Given the description of an element on the screen output the (x, y) to click on. 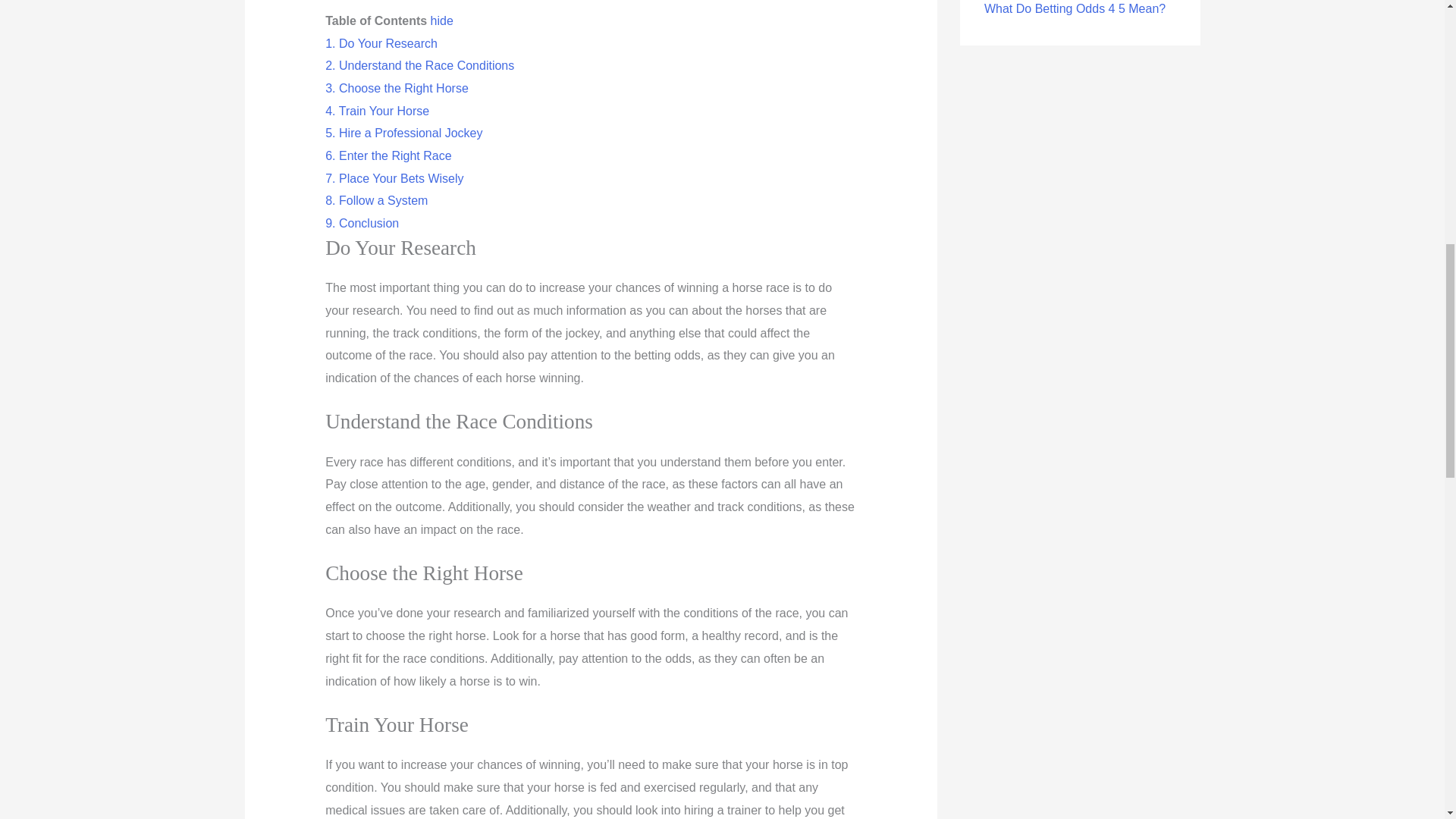
3. Choose the Right Horse (396, 88)
7. Place Your Bets Wisely (393, 178)
1. Do Your Research (381, 42)
6. Enter the Right Race (387, 155)
9. Conclusion (361, 223)
hide (441, 20)
5. Hire a Professional Jockey (402, 132)
2. Understand the Race Conditions (418, 65)
8. Follow a System (376, 200)
4. Train Your Horse (376, 110)
